Given the description of an element on the screen output the (x, y) to click on. 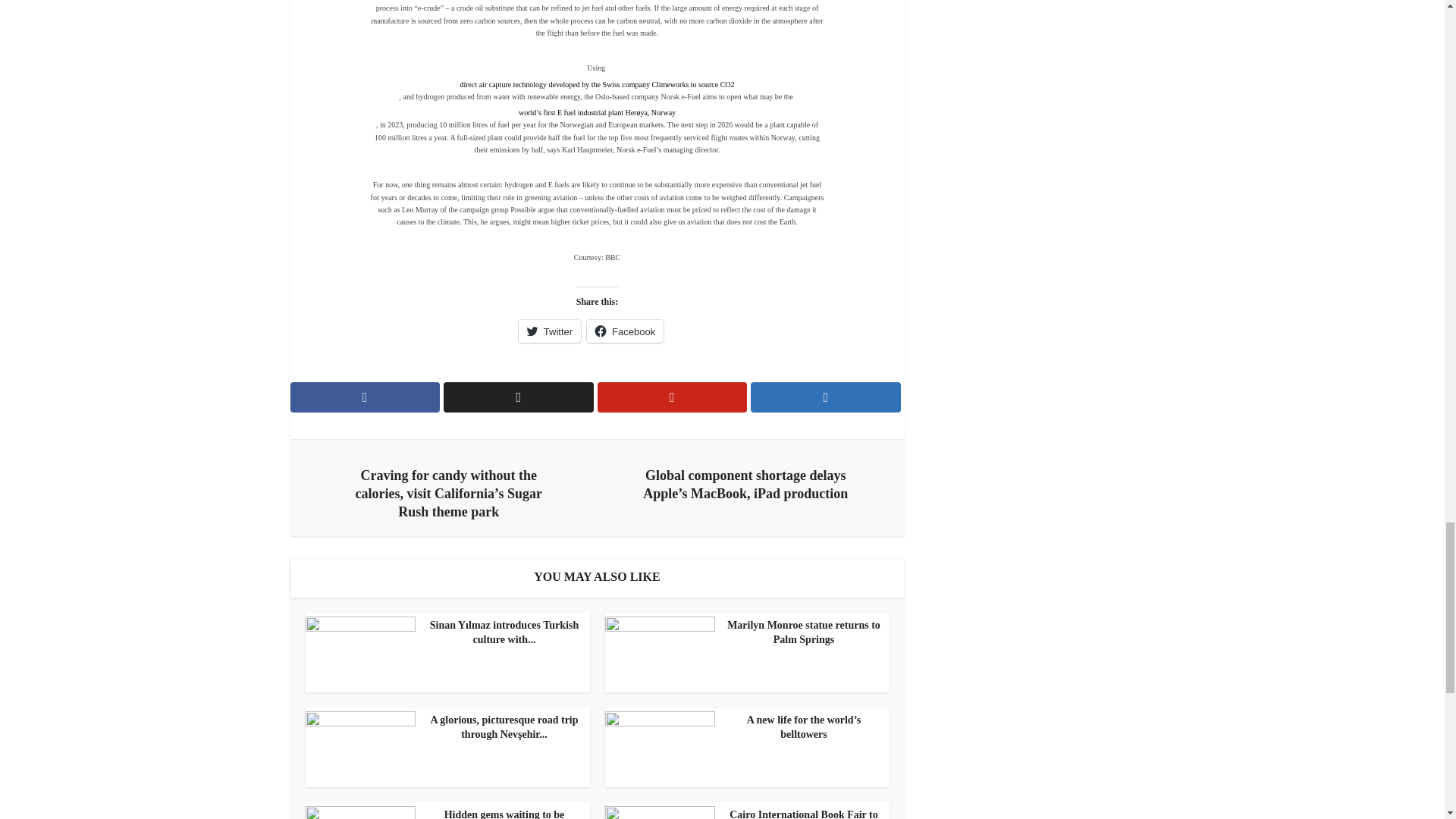
Click to share on Twitter (549, 331)
Click to share on Facebook (624, 331)
Hidden gems waiting to be discovered in Turkey (442, 813)
Marilyn Monroe statue returns to Palm Springs (743, 633)
